Given the description of an element on the screen output the (x, y) to click on. 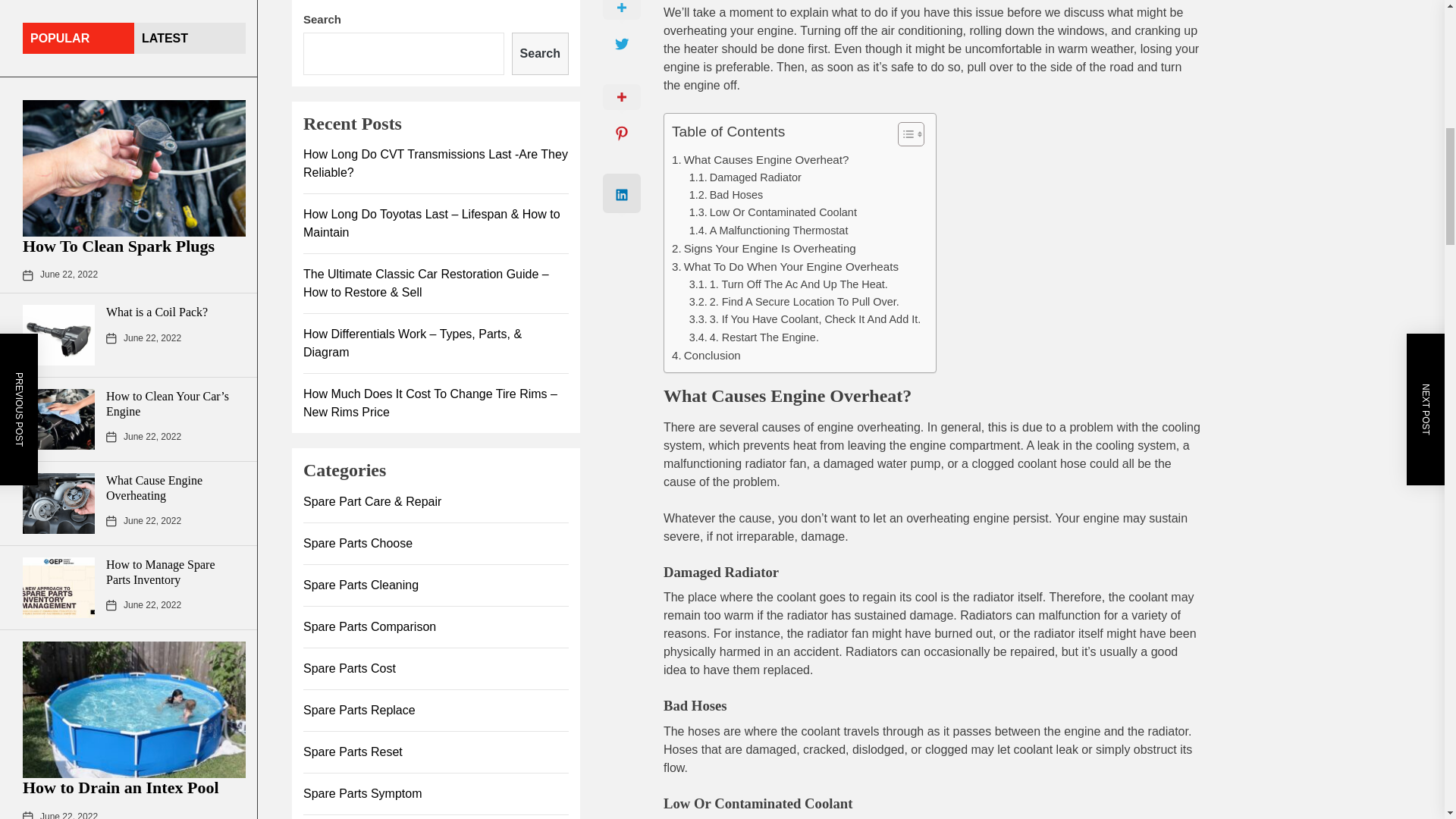
How to Drain an Intex Pool (121, 126)
